Given the description of an element on the screen output the (x, y) to click on. 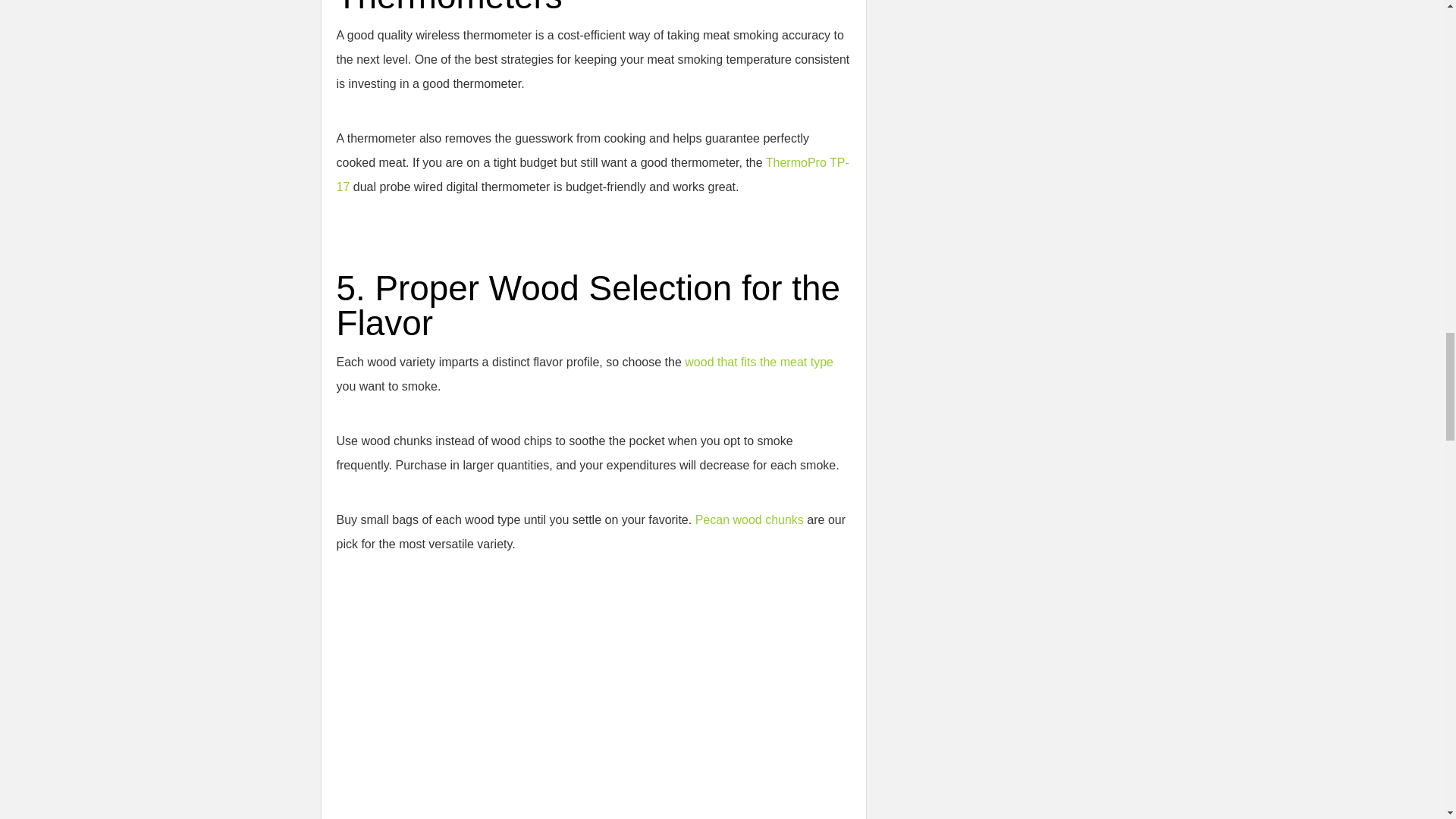
Pecan wood chunks (749, 519)
ThermoPro TP-17 (592, 174)
wood that fits the meat type (758, 361)
